Given the description of an element on the screen output the (x, y) to click on. 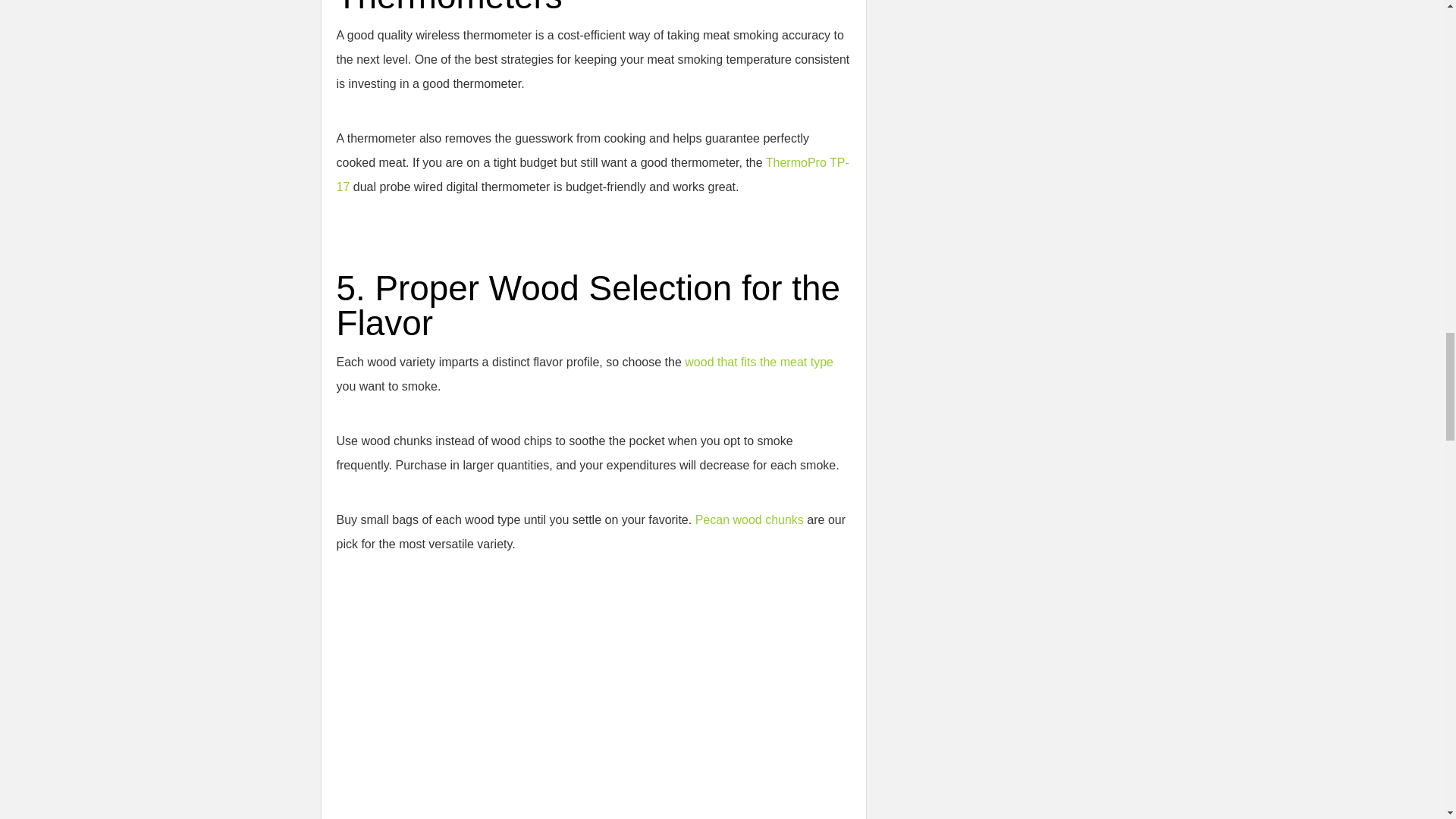
Pecan wood chunks (749, 519)
ThermoPro TP-17 (592, 174)
wood that fits the meat type (758, 361)
